Given the description of an element on the screen output the (x, y) to click on. 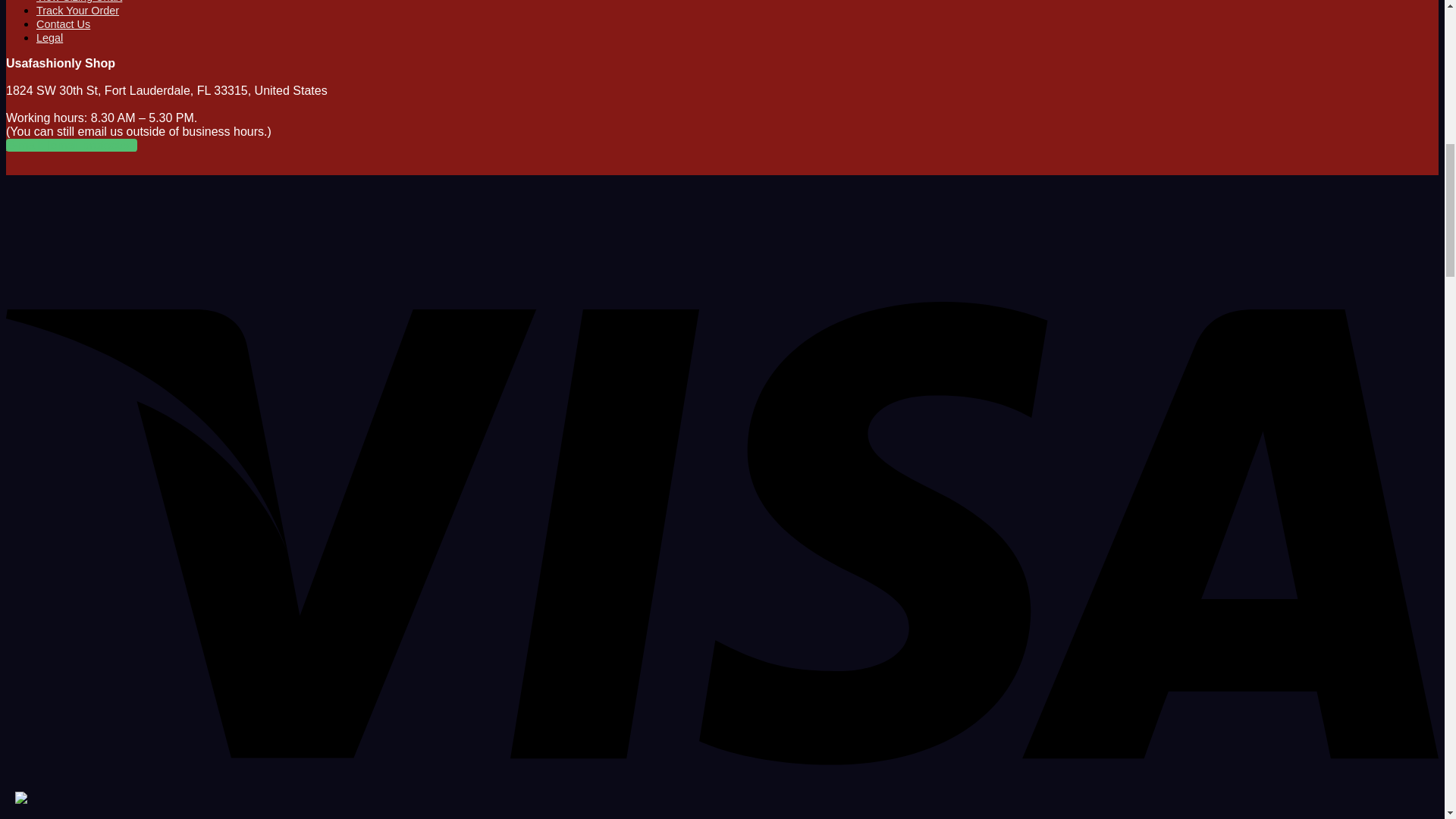
Contact Us (63, 24)
View Sizing Chart (79, 1)
Legal (49, 37)
Track Your Order (77, 10)
